Given the description of an element on the screen output the (x, y) to click on. 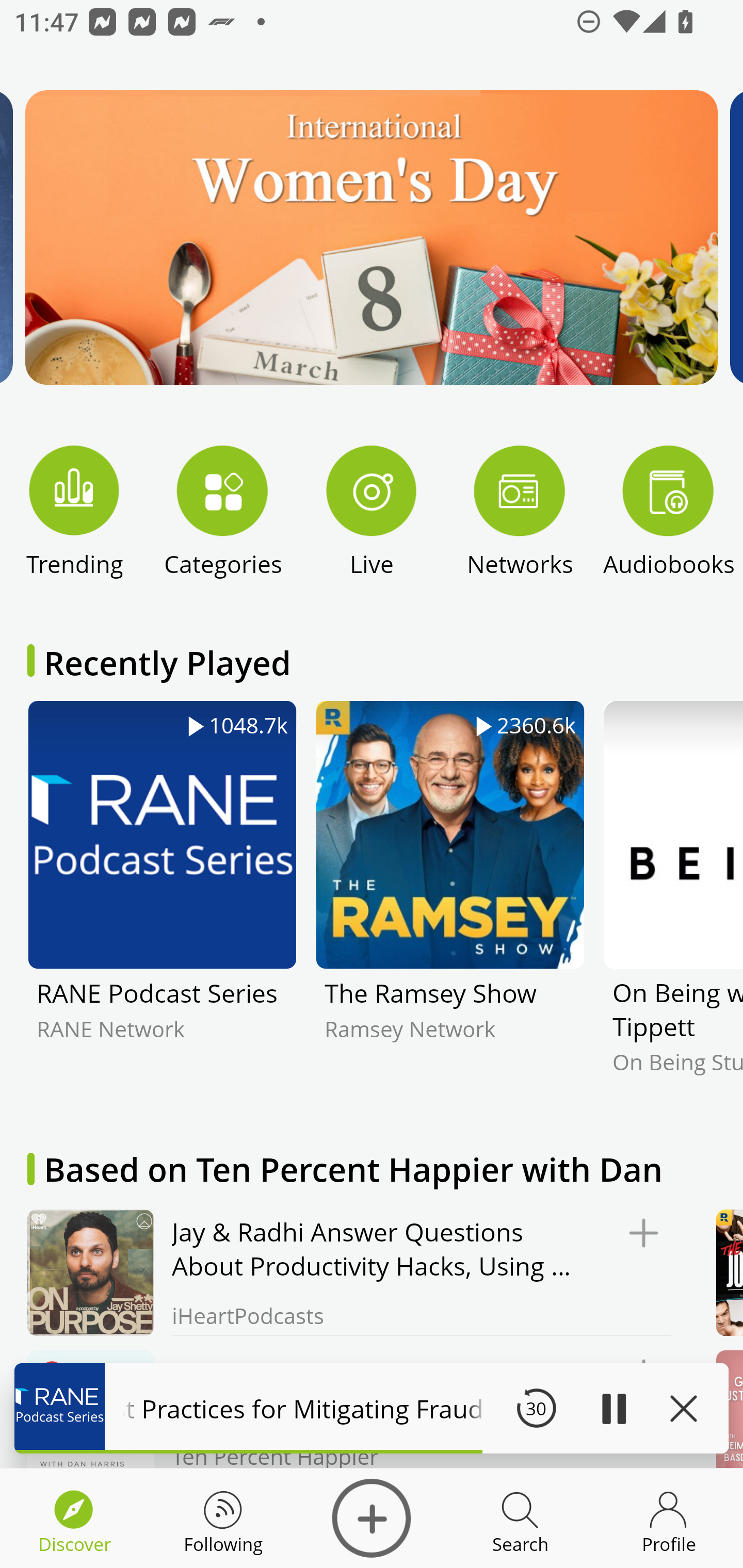
1048.7k RANE Podcast Series RANE Network (162, 902)
2360.6k The Ramsey Show Ramsey Network (450, 902)
Play (613, 1407)
30 Seek Backward (536, 1407)
Discover Following (222, 1518)
Discover (371, 1518)
Discover Search (519, 1518)
Discover Profile (668, 1518)
